Given the description of an element on the screen output the (x, y) to click on. 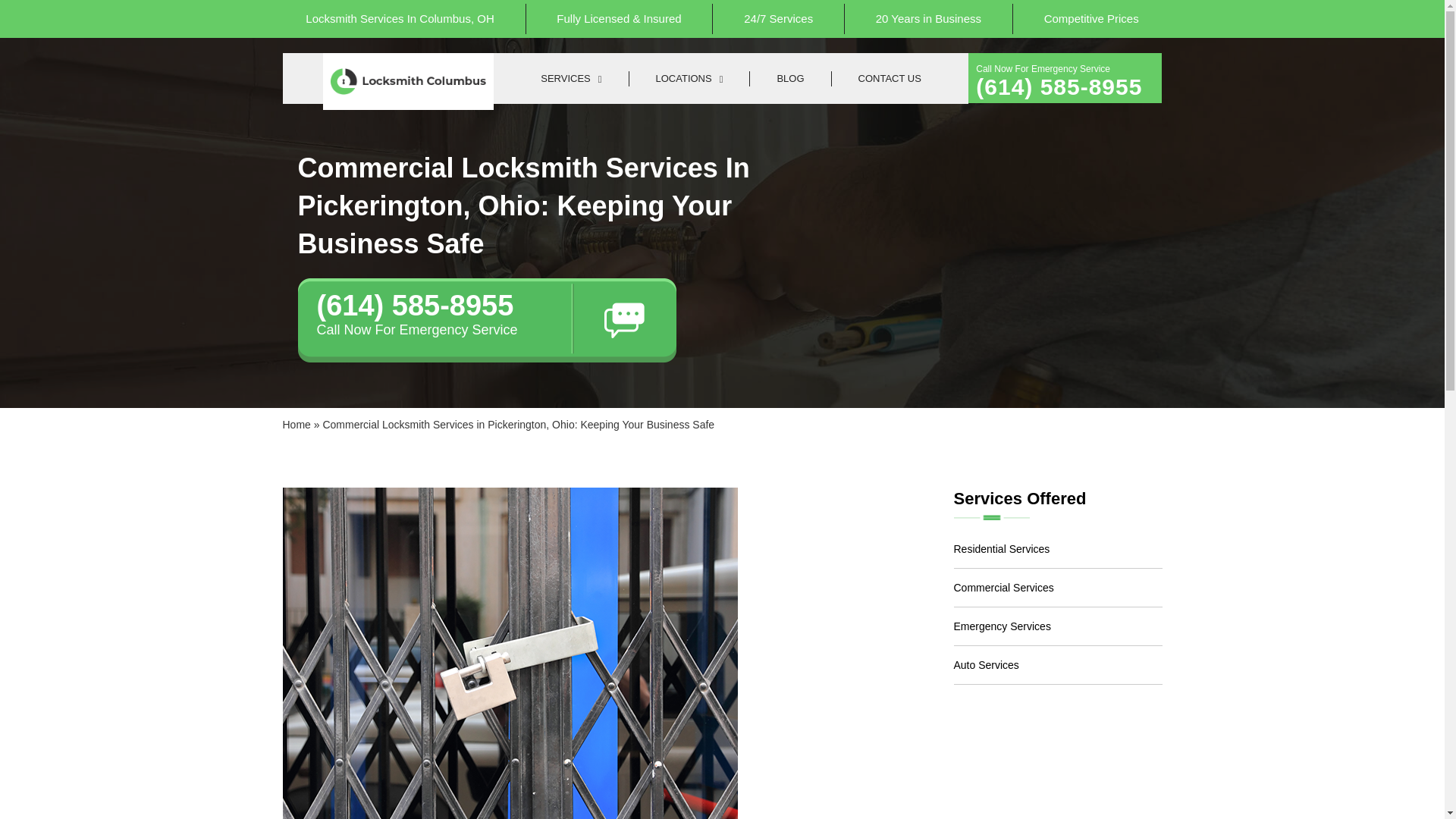
20 Years in Business (928, 19)
LOCATIONS (689, 78)
SERVICES (570, 78)
CONTACT US (889, 78)
Locksmith Services In Columbus, OH (400, 19)
Competitive Prices (1091, 19)
BLOG (790, 78)
